Given the description of an element on the screen output the (x, y) to click on. 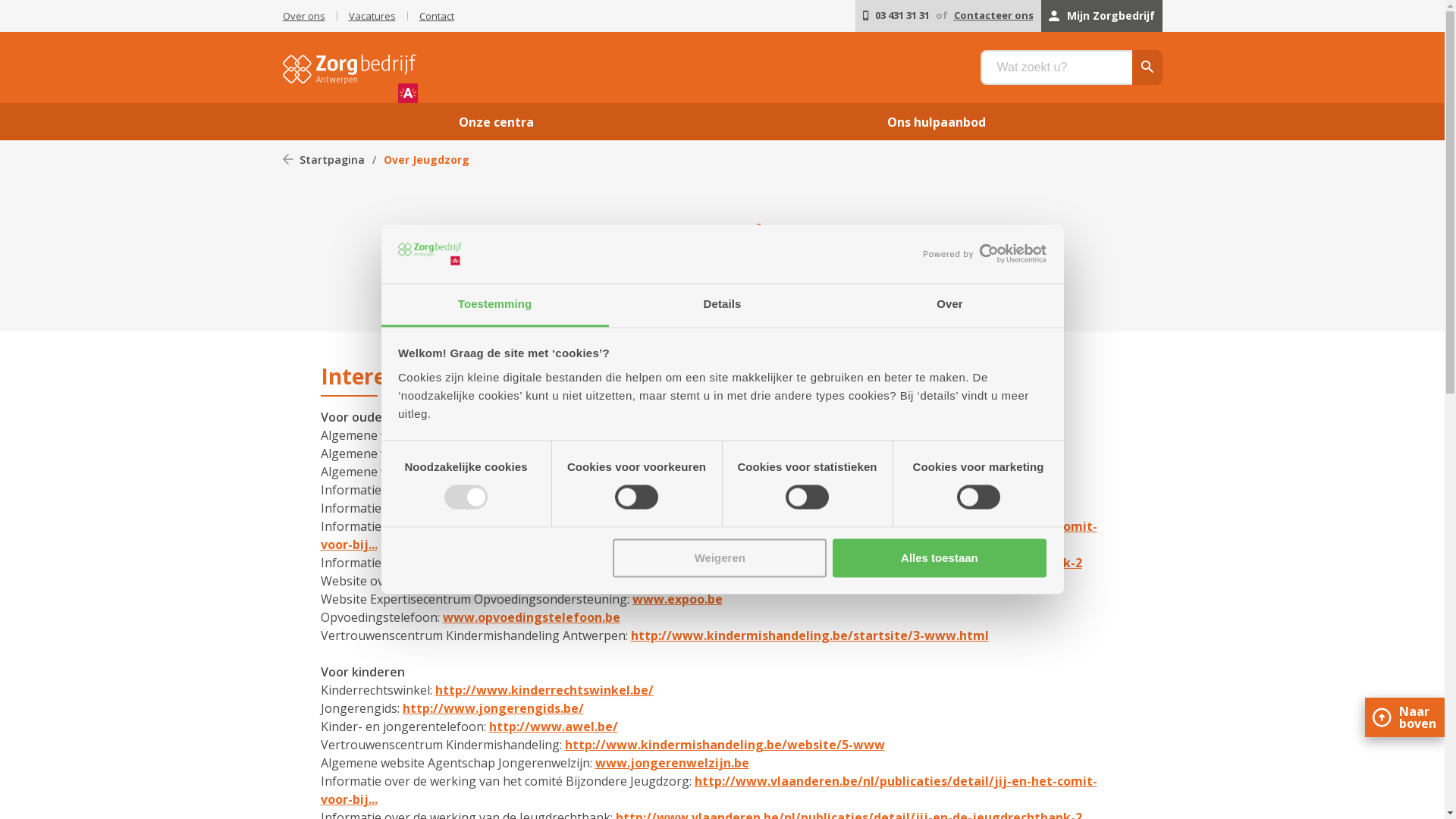
Over ons Element type: text (303, 15)
Onze centra Element type: text (496, 121)
www.opvoedingstelefoon.be Element type: text (531, 616)
Ons hulpaanbod Element type: text (936, 121)
http://www.kindermishandeling.be/startsite/3-www.html Element type: text (809, 635)
Naar boven Element type: text (1404, 717)
www.expoo.be Element type: text (677, 598)
http://www.awel.be/ Element type: text (552, 726)
Details Element type: text (721, 304)
Mijn Zorgbedrijf Element type: text (1100, 15)
www.jongerenwelzijn.be Element type: text (671, 471)
http://www.jongerengids.be/ Element type: text (492, 707)
www.groeimee.be Element type: text (551, 507)
Toestemming Element type: text (494, 304)
www.ckg.be Element type: text (501, 453)
Startpagina Element type: text (323, 159)
www.jongerenwelzijn.be Element type: text (671, 762)
http://www.kindermishandeling.be/website/5-www Element type: text (724, 744)
www.rechtspositie.be Element type: text (682, 580)
Aansprakelijkheid Element type: text (800, 315)
Contact Element type: text (435, 15)
03 431 31 31 Element type: text (895, 15)
Vacatures Element type: text (371, 15)
www.kindengezin.be Element type: text (573, 434)
Contacteer ons Element type: text (993, 15)
www.triplep.be Element type: text (509, 489)
Weigeren Element type: text (719, 557)
http://www.kinderrechtswinkel.be/ Element type: text (544, 689)
Over Element type: text (949, 304)
Alles toestaan Element type: text (939, 557)
Interessante links Element type: text (643, 315)
